Given the description of an element on the screen output the (x, y) to click on. 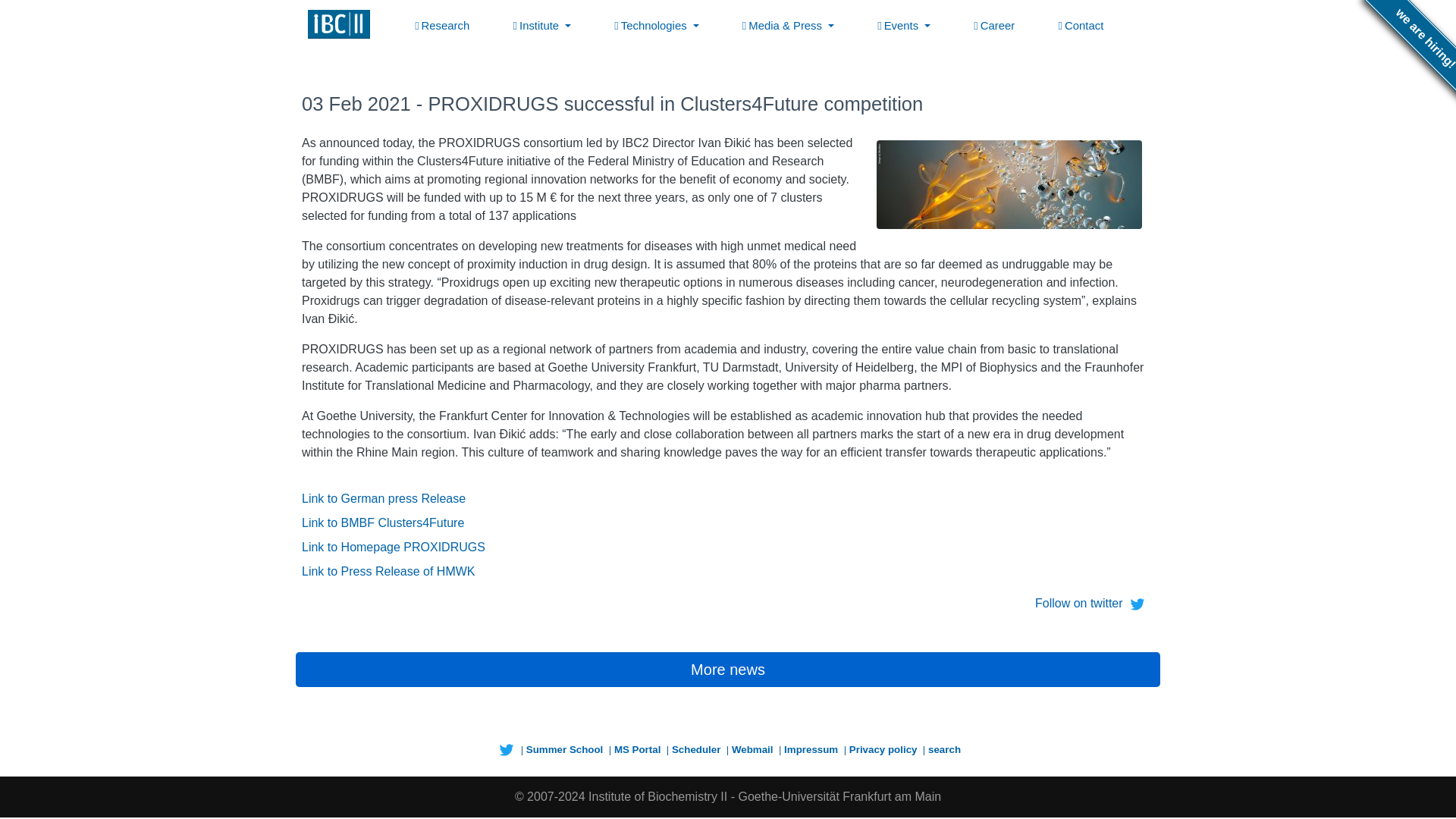
Privacy policy (884, 749)
Follow on twitter (1091, 603)
Events (903, 25)
Link to Press Release of HMWK (388, 571)
Link to BMBF Clusters4Future (382, 522)
Impressum (812, 749)
More news (727, 669)
MS Portal (638, 749)
Scheduler (697, 749)
Link to Homepage PROXIDRUGS (392, 546)
